Given the description of an element on the screen output the (x, y) to click on. 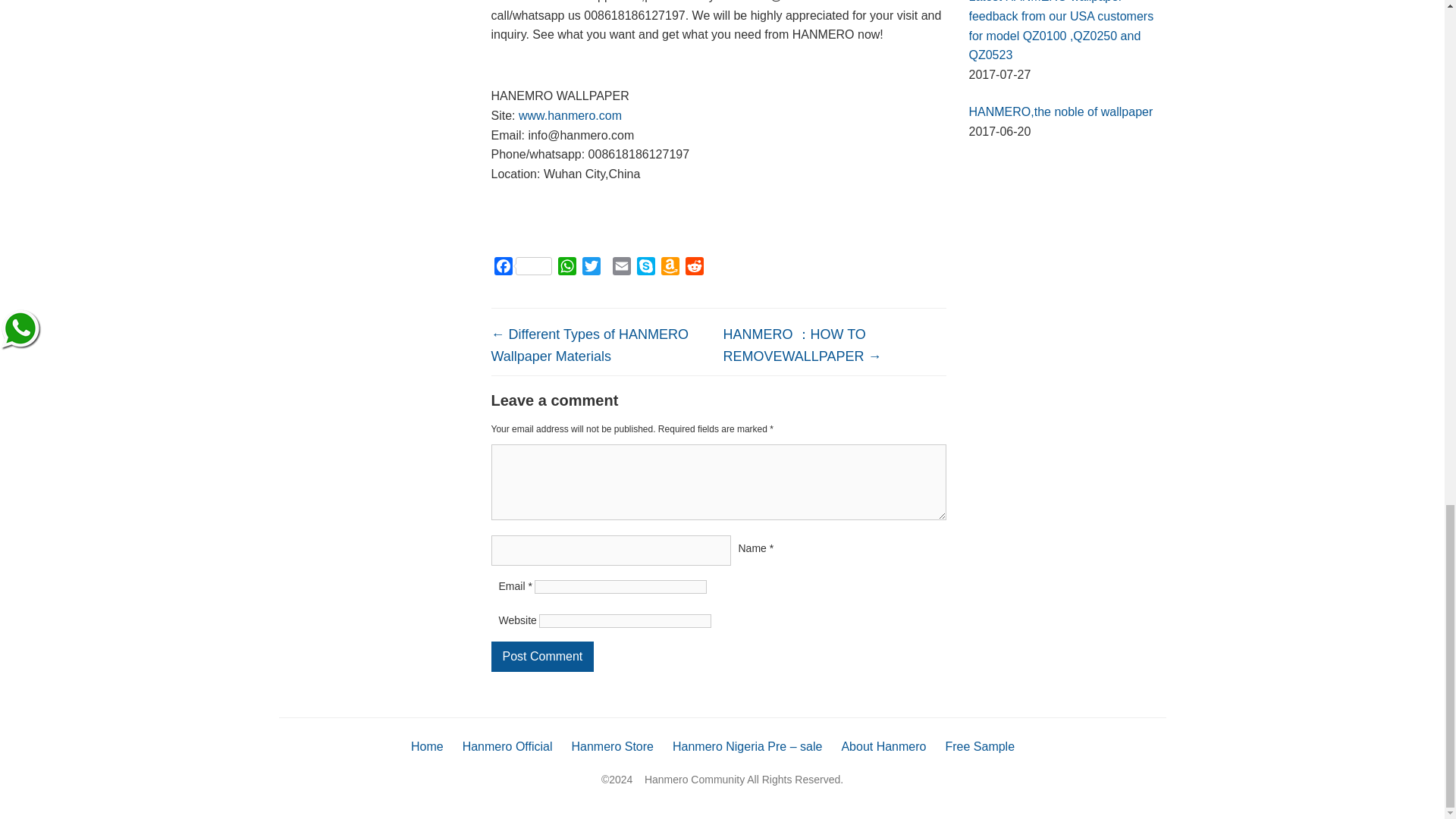
Post Comment (543, 656)
Facebook (523, 268)
WhatsApp (566, 268)
Skype (645, 268)
Email (621, 268)
Twitter (591, 268)
Amazon Wish List (670, 268)
